Given the description of an element on the screen output the (x, y) to click on. 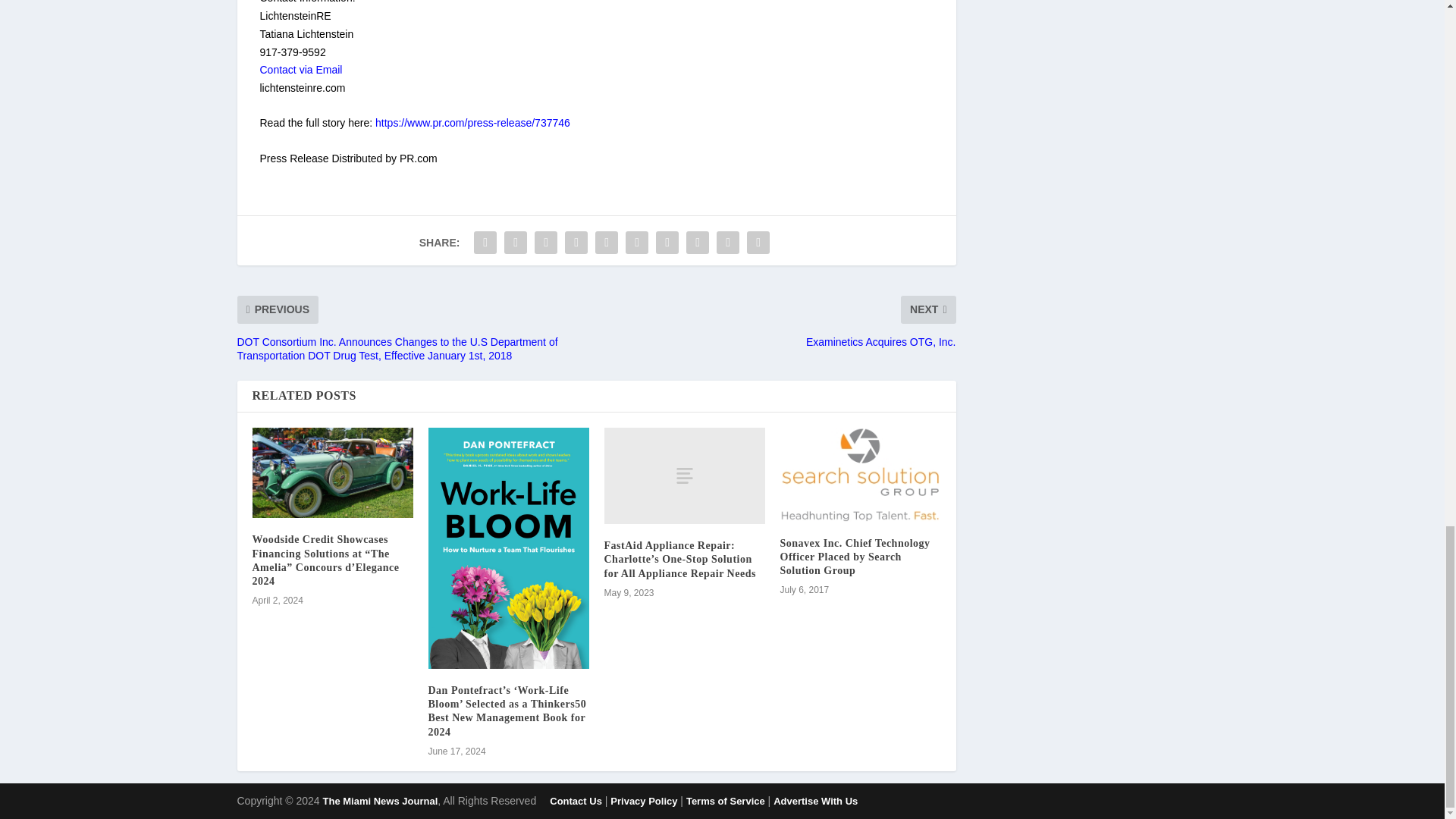
Contact via Email (300, 69)
